Given the description of an element on the screen output the (x, y) to click on. 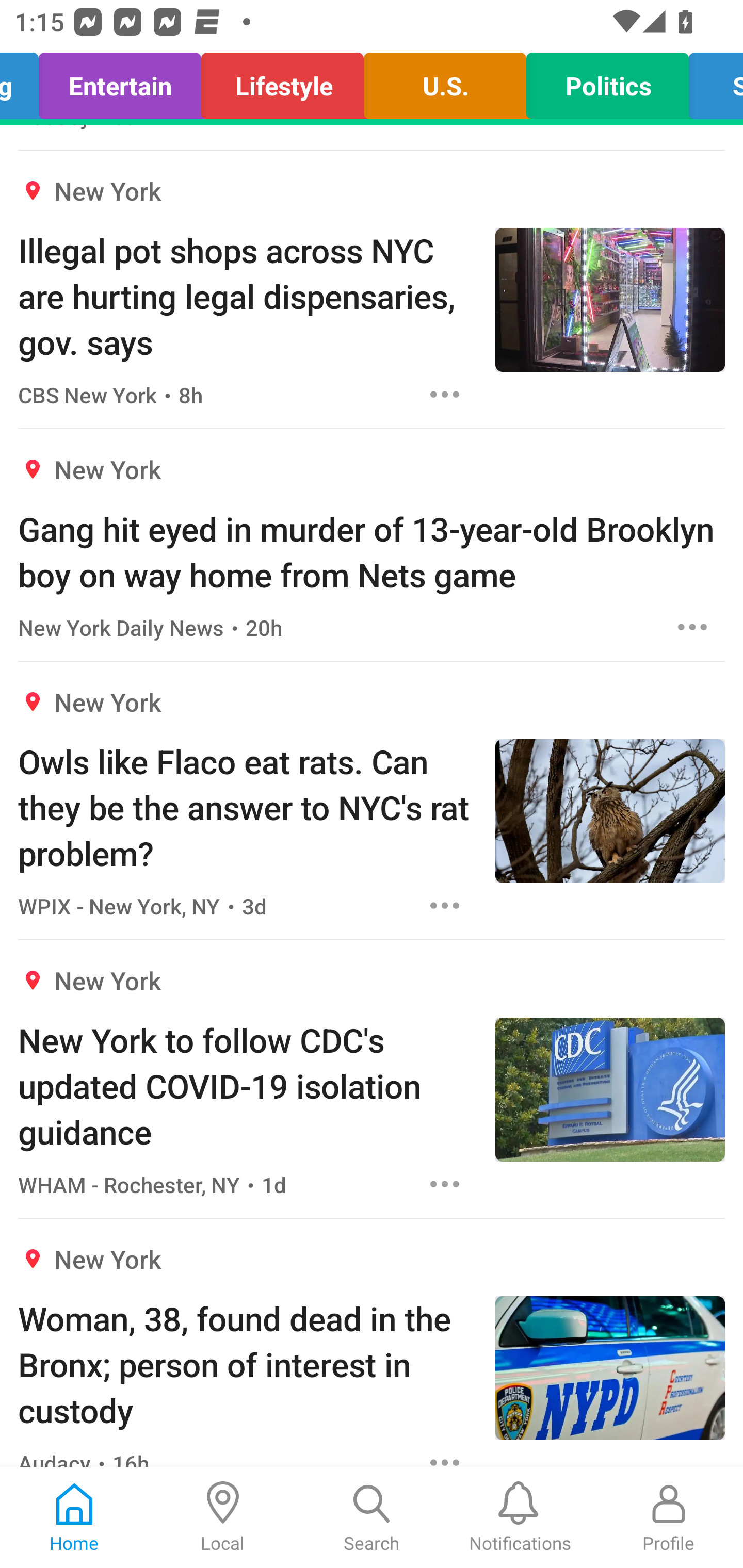
Entertain (119, 81)
Lifestyle (282, 81)
U.S. (444, 81)
Politics (607, 81)
Options (444, 394)
Options (692, 627)
Options (444, 905)
Options (444, 1183)
Options (444, 1453)
Local (222, 1517)
Search (371, 1517)
Notifications (519, 1517)
Profile (668, 1517)
